Given the description of an element on the screen output the (x, y) to click on. 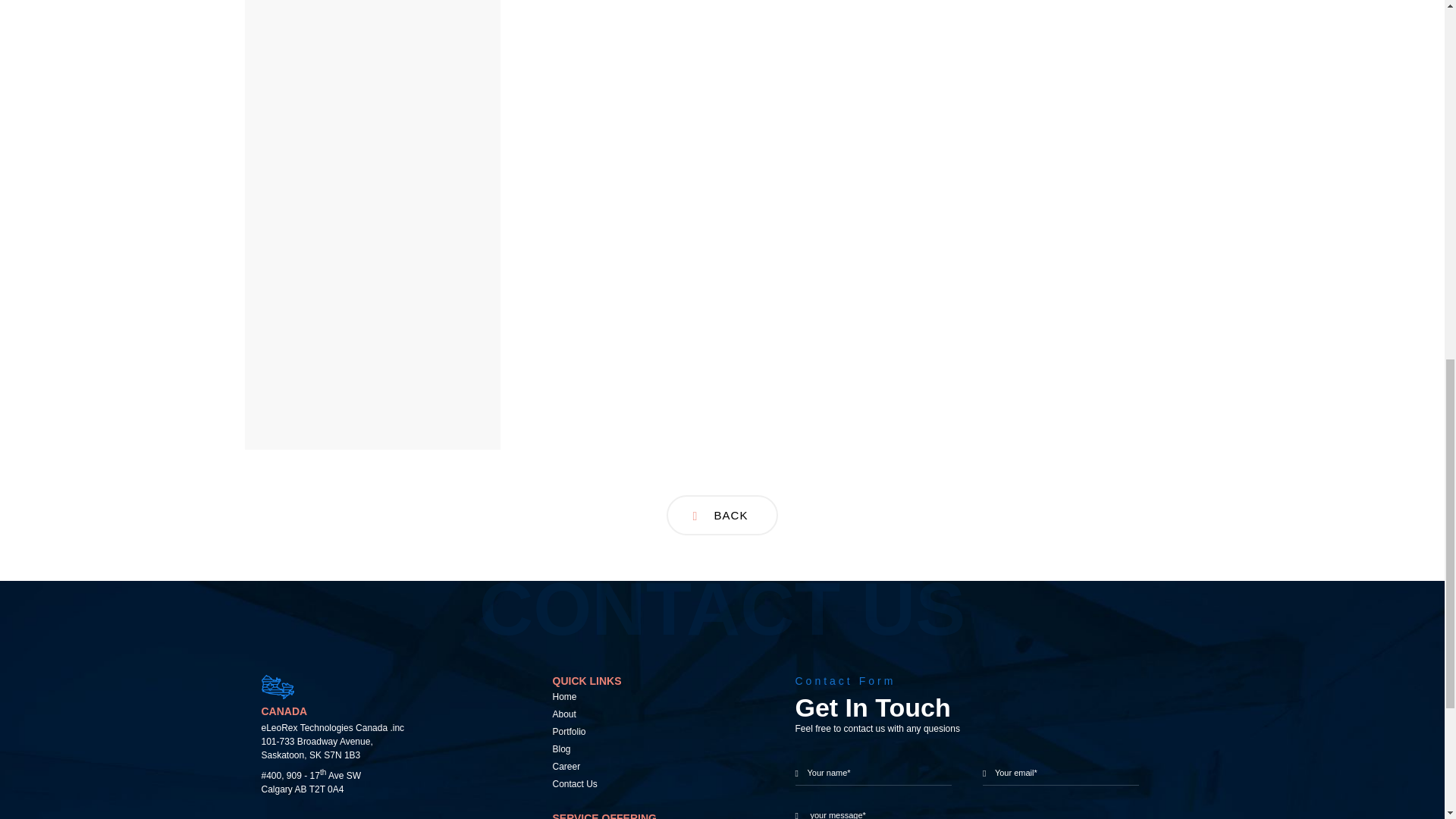
About (648, 714)
Blog (648, 749)
Career (648, 766)
Contact Us (648, 784)
Home (648, 696)
Portfolio (648, 732)
BACK (722, 515)
